Given the description of an element on the screen output the (x, y) to click on. 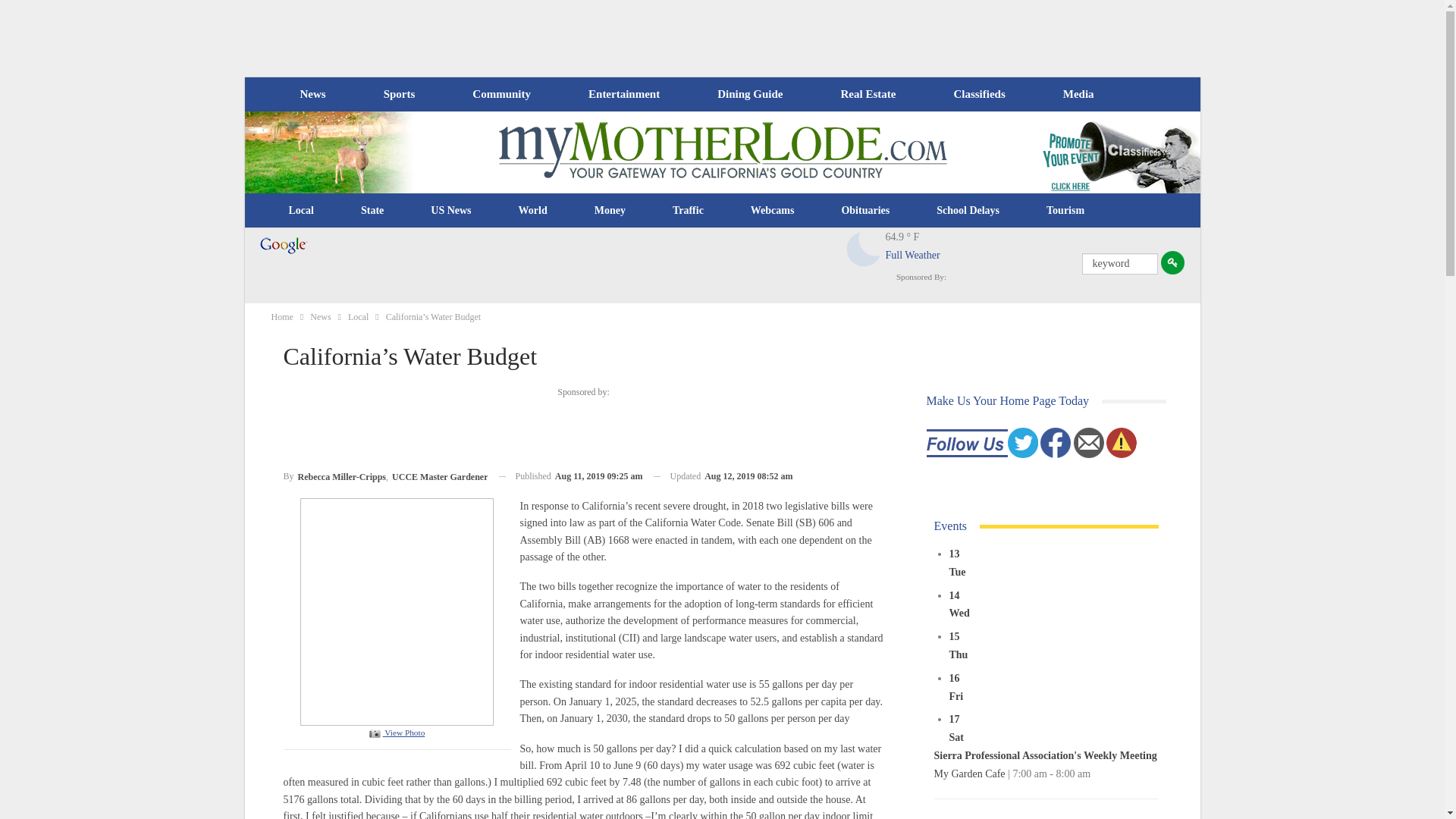
Sports (399, 93)
Money (609, 210)
Photo courtesy T.U.D. (396, 610)
Entertainment (624, 93)
Media (1078, 93)
keyword (1119, 263)
Classifieds (979, 93)
World (532, 210)
Local (300, 210)
